Given the description of an element on the screen output the (x, y) to click on. 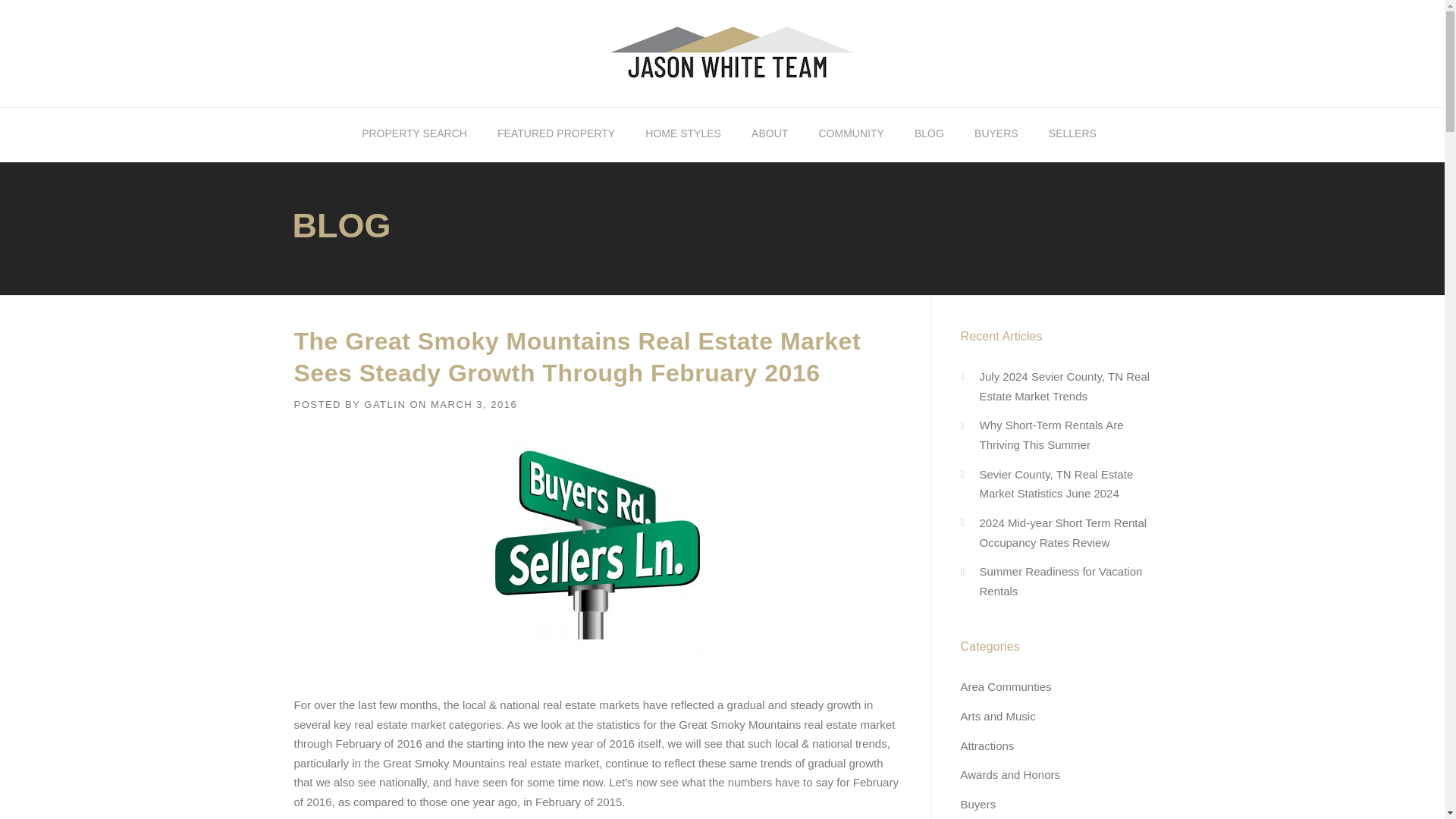
FEATURED PROPERTY (555, 134)
COMMUNITY (850, 134)
BUYERS (996, 134)
BLOG (929, 134)
Buyers Road and Sellers Lane (597, 544)
PROPERTY SEARCH (413, 134)
ABOUT (770, 134)
HOME STYLES (683, 134)
